Given the description of an element on the screen output the (x, y) to click on. 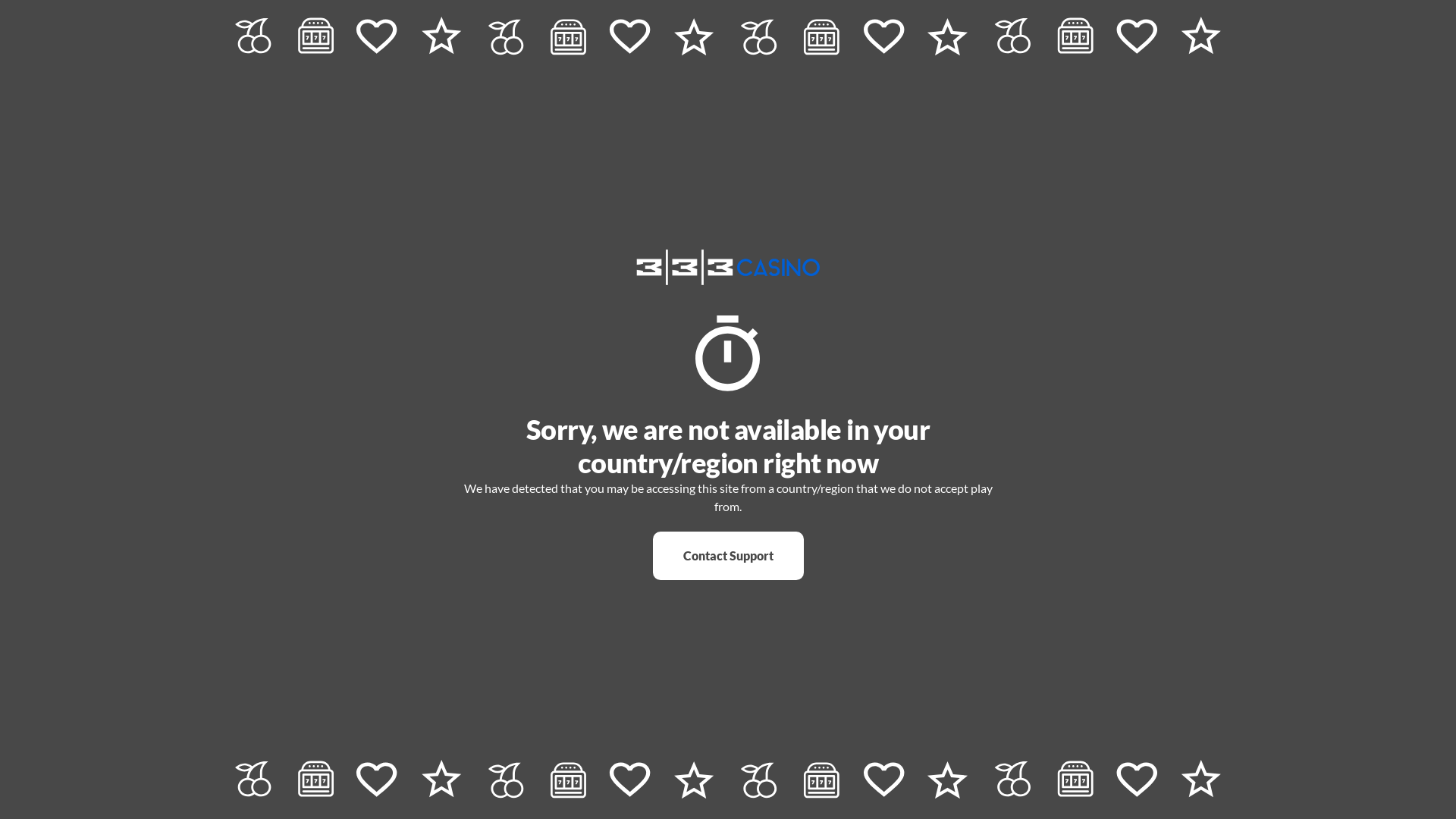
Contact Support Element type: text (727, 555)
